Given the description of an element on the screen output the (x, y) to click on. 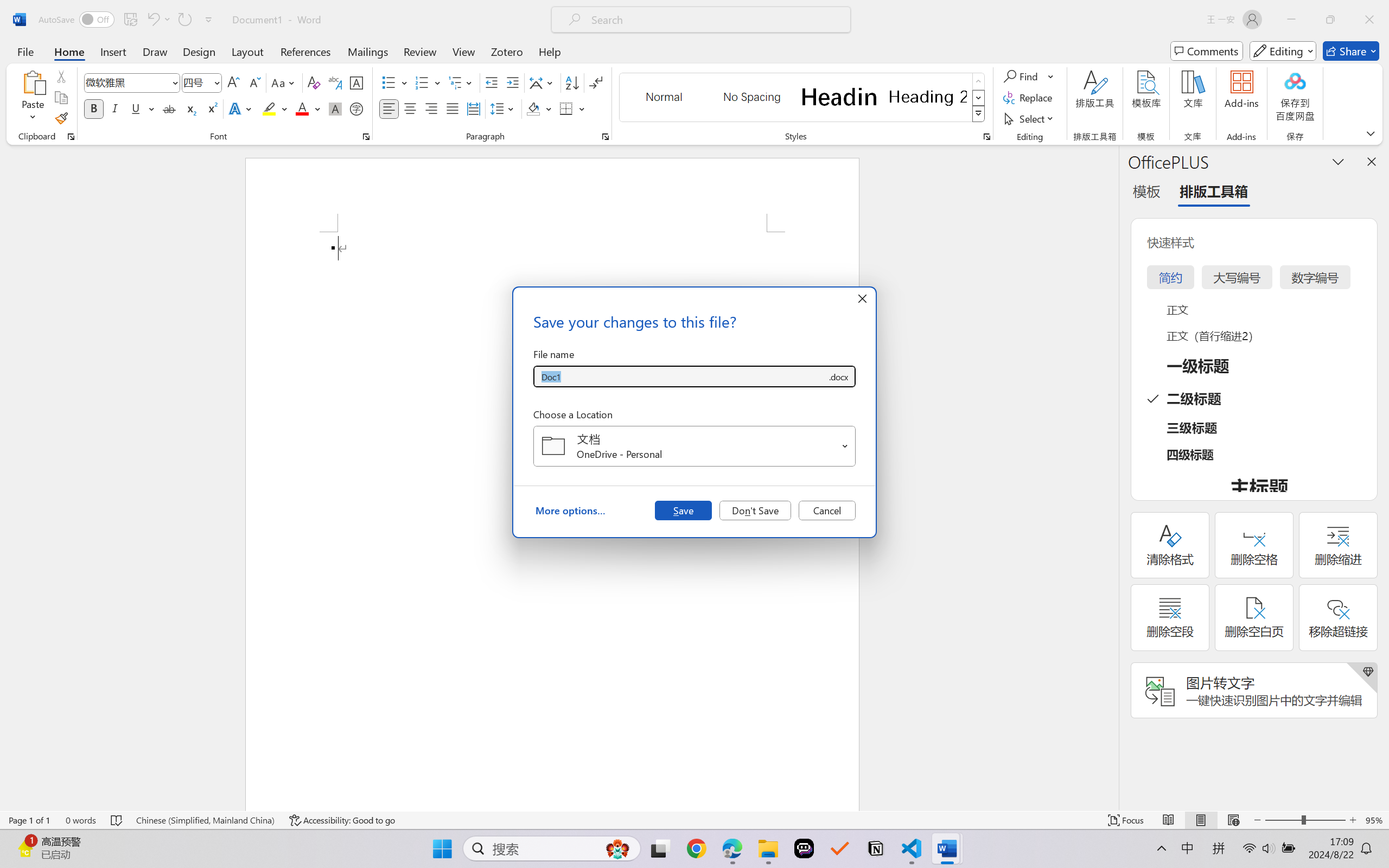
Microsoft search (715, 19)
File name (680, 376)
